Given the description of an element on the screen output the (x, y) to click on. 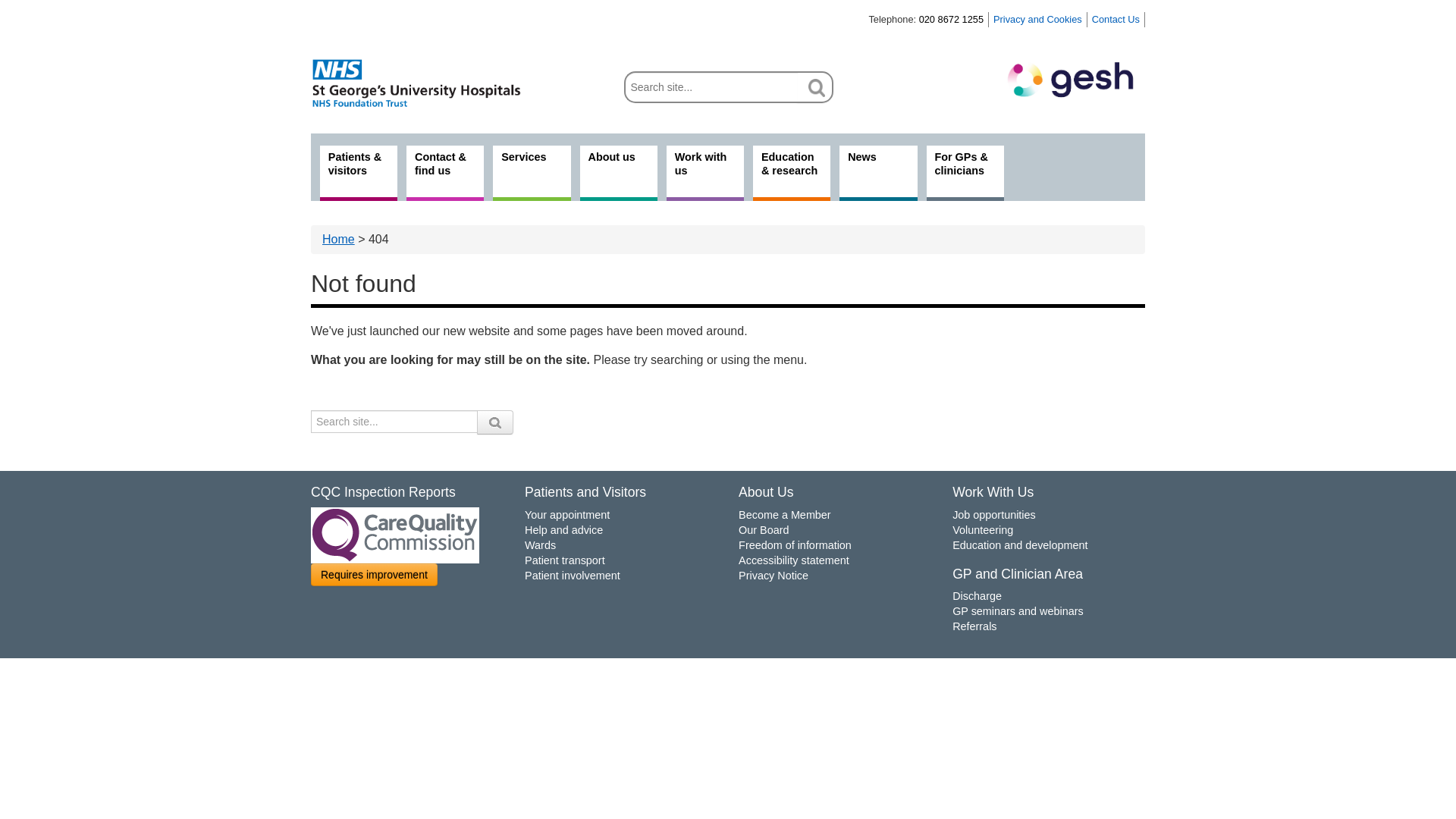
Work with us (705, 172)
Patient involvement (572, 575)
Privacy and Cookies (1036, 19)
Visiting us (444, 172)
Requires improvement (374, 574)
Patient transport (564, 559)
About us (618, 172)
Privacy Notice (773, 575)
Your appointment (567, 514)
Job opportunities (993, 514)
